Given the description of an element on the screen output the (x, y) to click on. 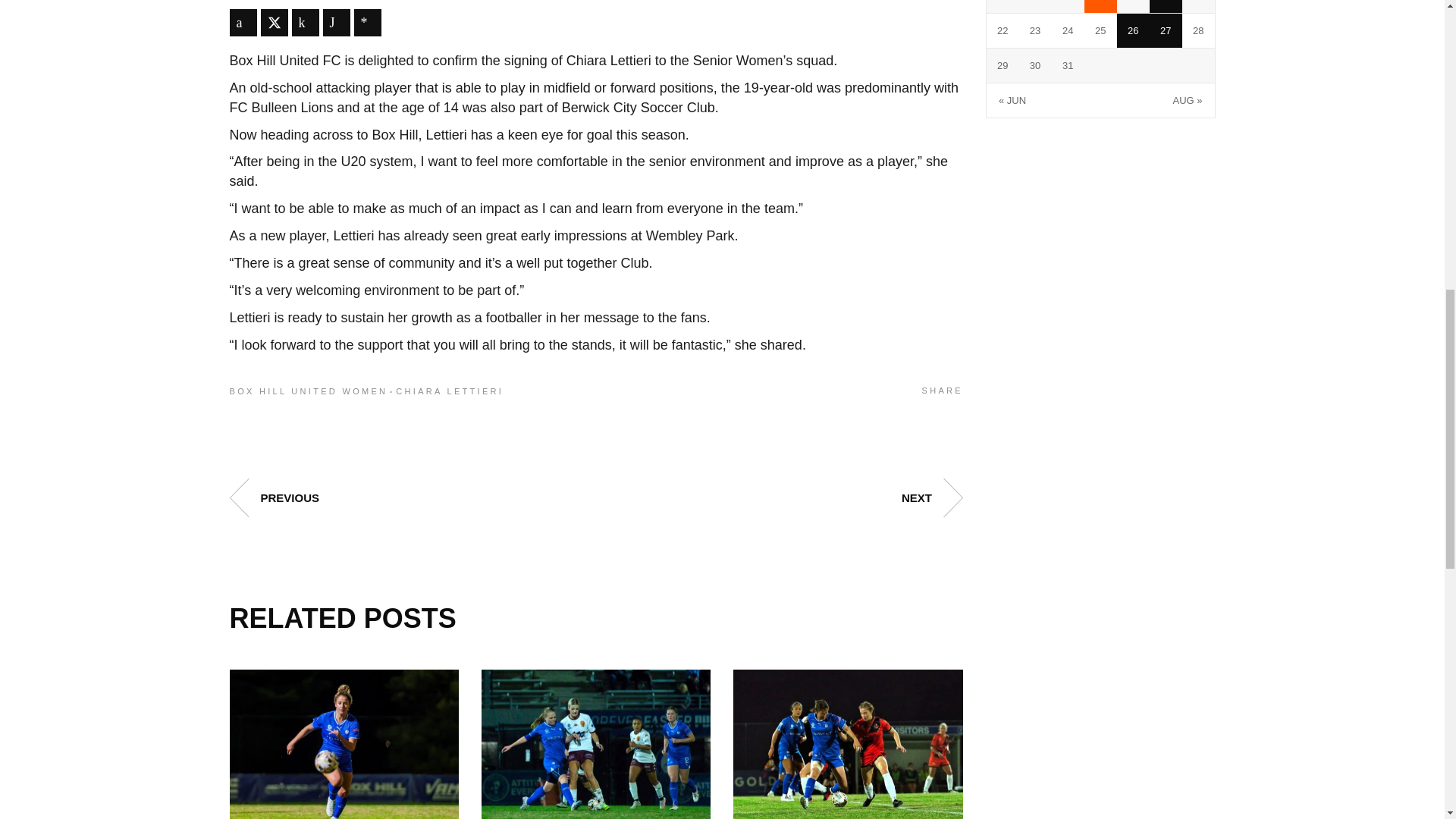
Share on Twitter (274, 22)
NPL Women Match Preview: Round 16 at FC Bulleen Lions (595, 744)
Senior Women under Friday night lights in season crunch time (343, 744)
Share on WhatsApp (336, 22)
Share on Facebook Messenger (366, 22)
Share on LinkedIn (304, 22)
Share on Facebook (242, 22)
